Given the description of an element on the screen output the (x, y) to click on. 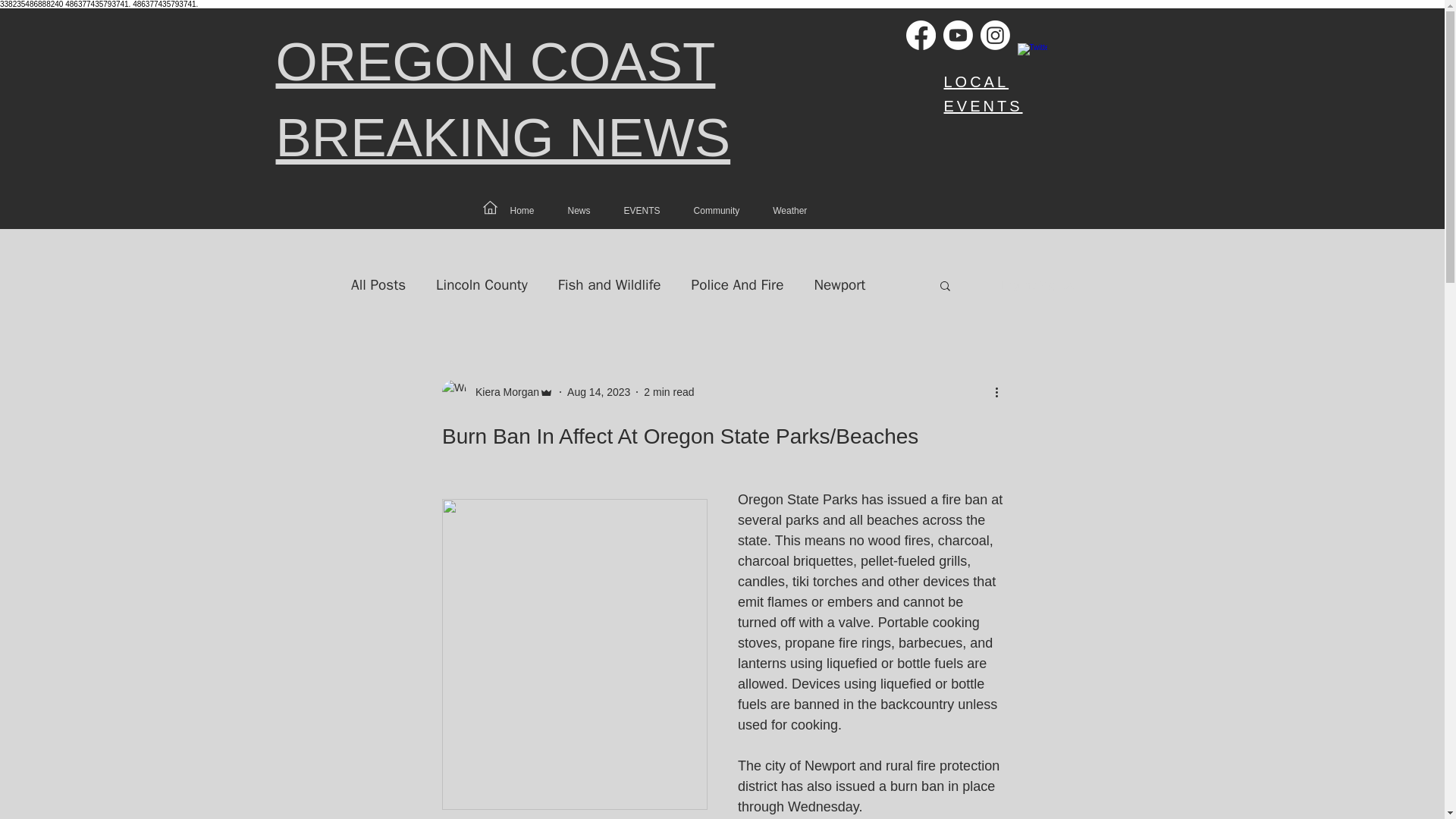
Community (716, 210)
Aug 14, 2023 (598, 391)
OREGON COAST BREAKING NEWS (503, 99)
Police And Fire (737, 284)
Lincoln County (481, 284)
LOCAL EVENTS (982, 93)
Weather (789, 210)
All Posts (378, 284)
Kiera Morgan (501, 392)
2 min read (668, 391)
